Given the description of an element on the screen output the (x, y) to click on. 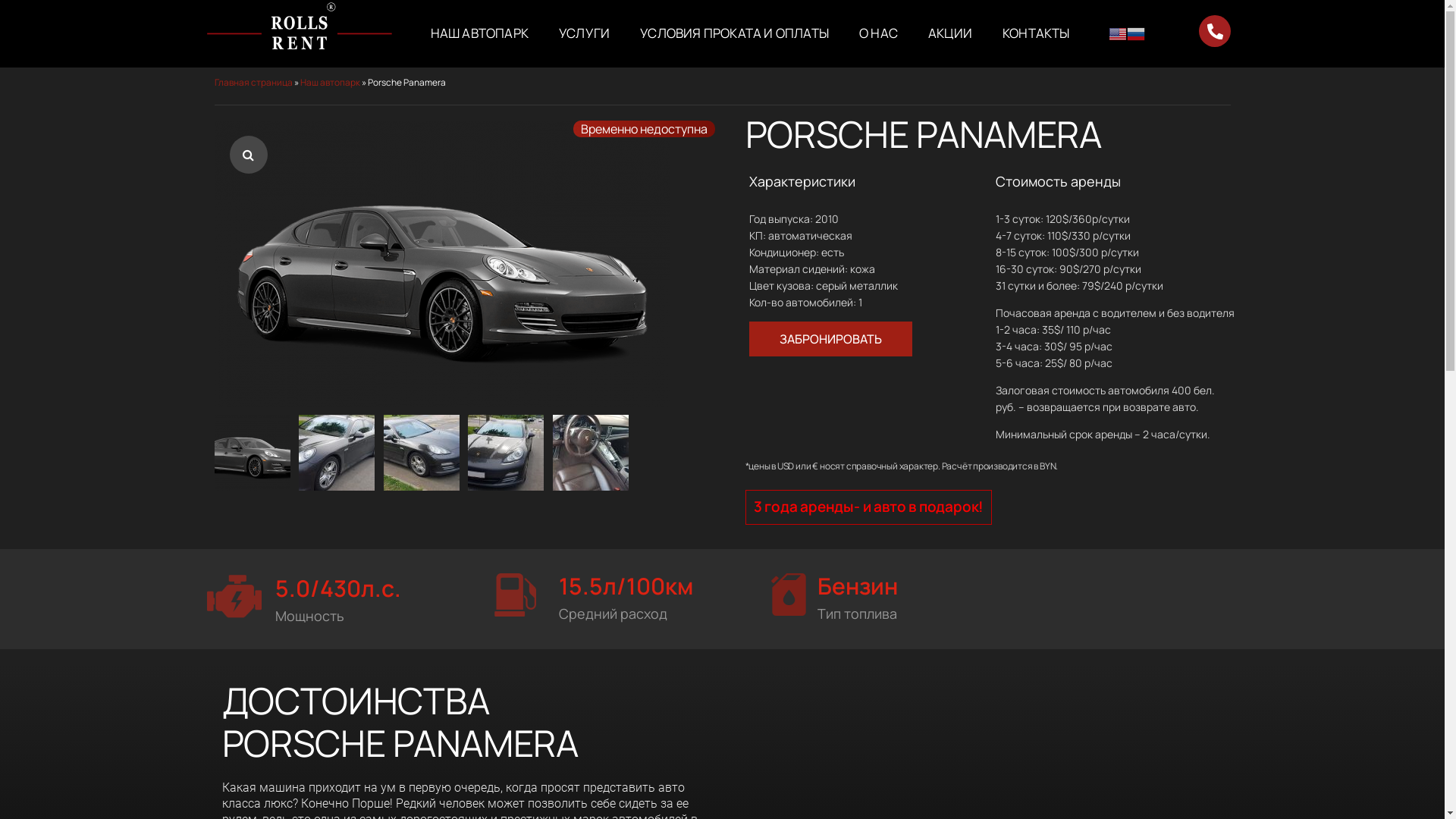
Russian Element type: hover (1135, 32)
porsche_panamera-min.7dsc9 Element type: hover (440, 263)
English Element type: hover (1117, 32)
